Given the description of an element on the screen output the (x, y) to click on. 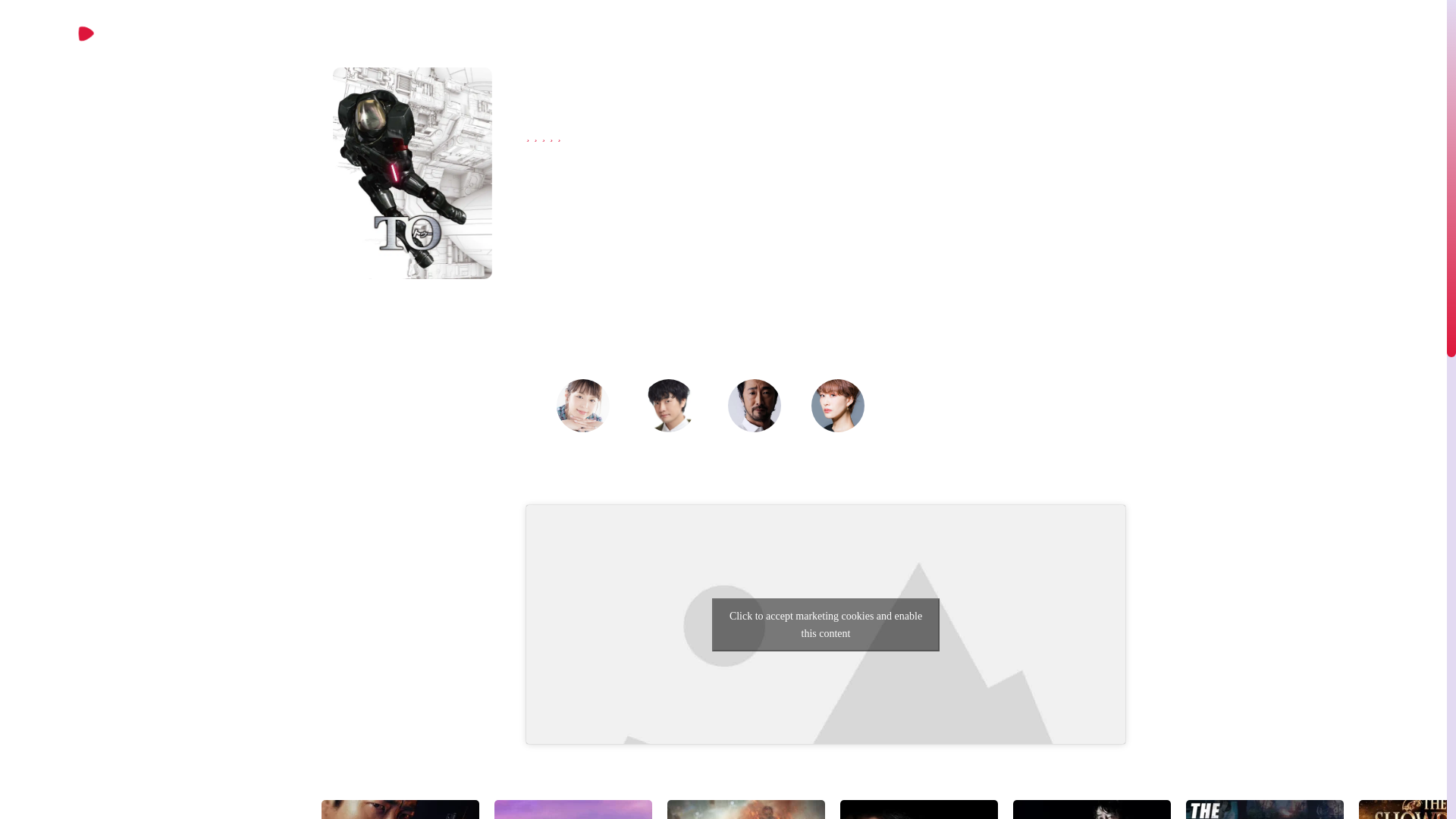
0 likes (352, 321)
Movies (873, 33)
Share (403, 321)
Science Fiction (739, 159)
Watchlist (466, 321)
Privacy Policy (1010, 31)
Home (753, 31)
Adventure (594, 159)
Jun Fukuyama (668, 448)
TV Shows (811, 33)
Action (542, 159)
Animation (660, 159)
Aya Hirano (583, 448)
Celebrities (935, 31)
